Given the description of an element on the screen output the (x, y) to click on. 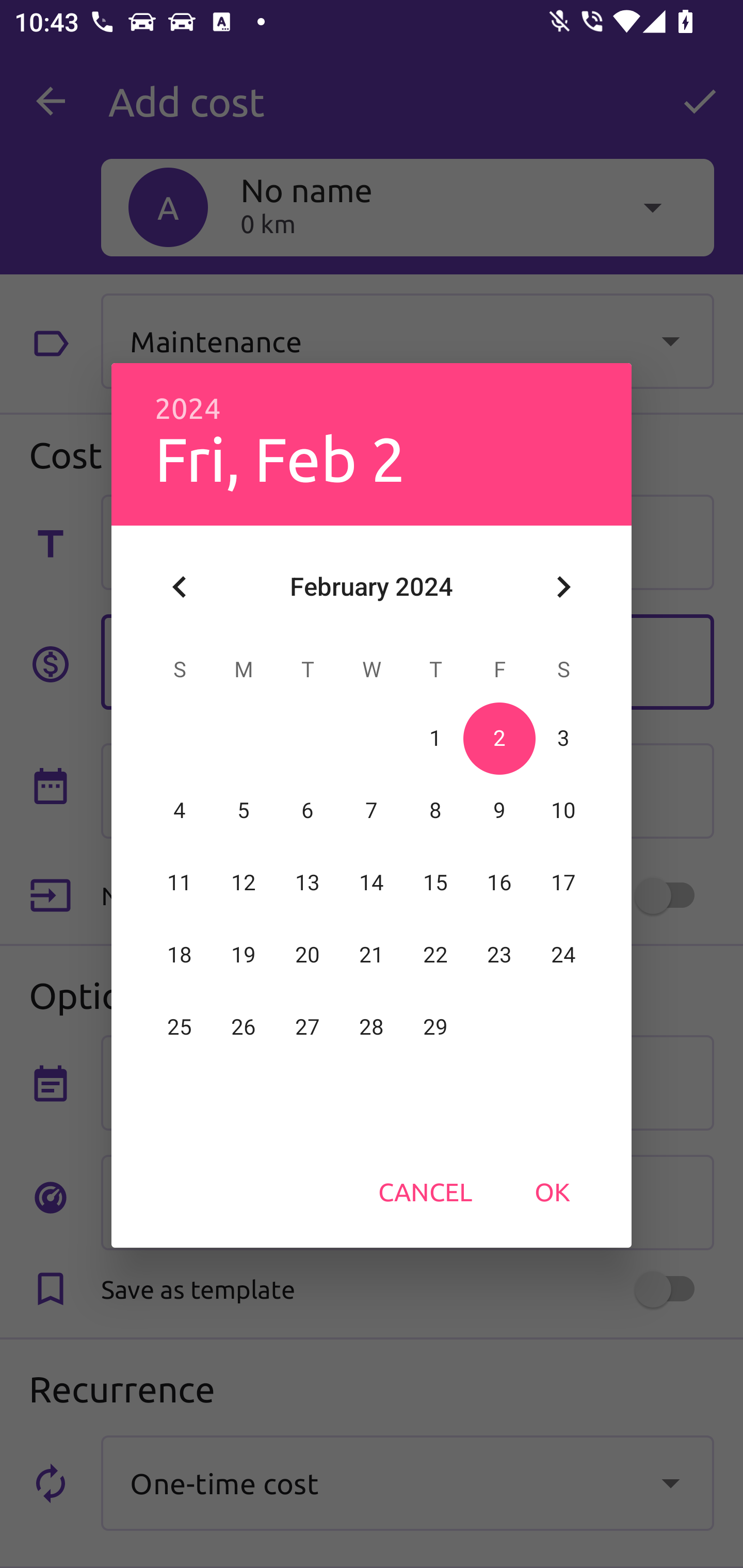
2024 (187, 408)
Fri, Feb 2 (280, 458)
Previous month (178, 587)
Next month (563, 587)
1 01 February 2024 (435, 738)
2 02 February 2024 (499, 738)
3 03 February 2024 (563, 738)
4 04 February 2024 (179, 810)
5 05 February 2024 (243, 810)
6 06 February 2024 (307, 810)
7 07 February 2024 (371, 810)
8 08 February 2024 (435, 810)
9 09 February 2024 (499, 810)
10 10 February 2024 (563, 810)
11 11 February 2024 (179, 882)
12 12 February 2024 (243, 882)
13 13 February 2024 (307, 882)
14 14 February 2024 (371, 882)
15 15 February 2024 (435, 882)
16 16 February 2024 (499, 882)
17 17 February 2024 (563, 882)
18 18 February 2024 (179, 954)
19 19 February 2024 (243, 954)
20 20 February 2024 (307, 954)
21 21 February 2024 (371, 954)
22 22 February 2024 (435, 954)
23 23 February 2024 (499, 954)
24 24 February 2024 (563, 954)
25 25 February 2024 (179, 1026)
26 26 February 2024 (243, 1026)
27 27 February 2024 (307, 1026)
28 28 February 2024 (371, 1026)
29 29 February 2024 (435, 1026)
CANCEL (425, 1191)
OK (552, 1191)
